Given the description of an element on the screen output the (x, y) to click on. 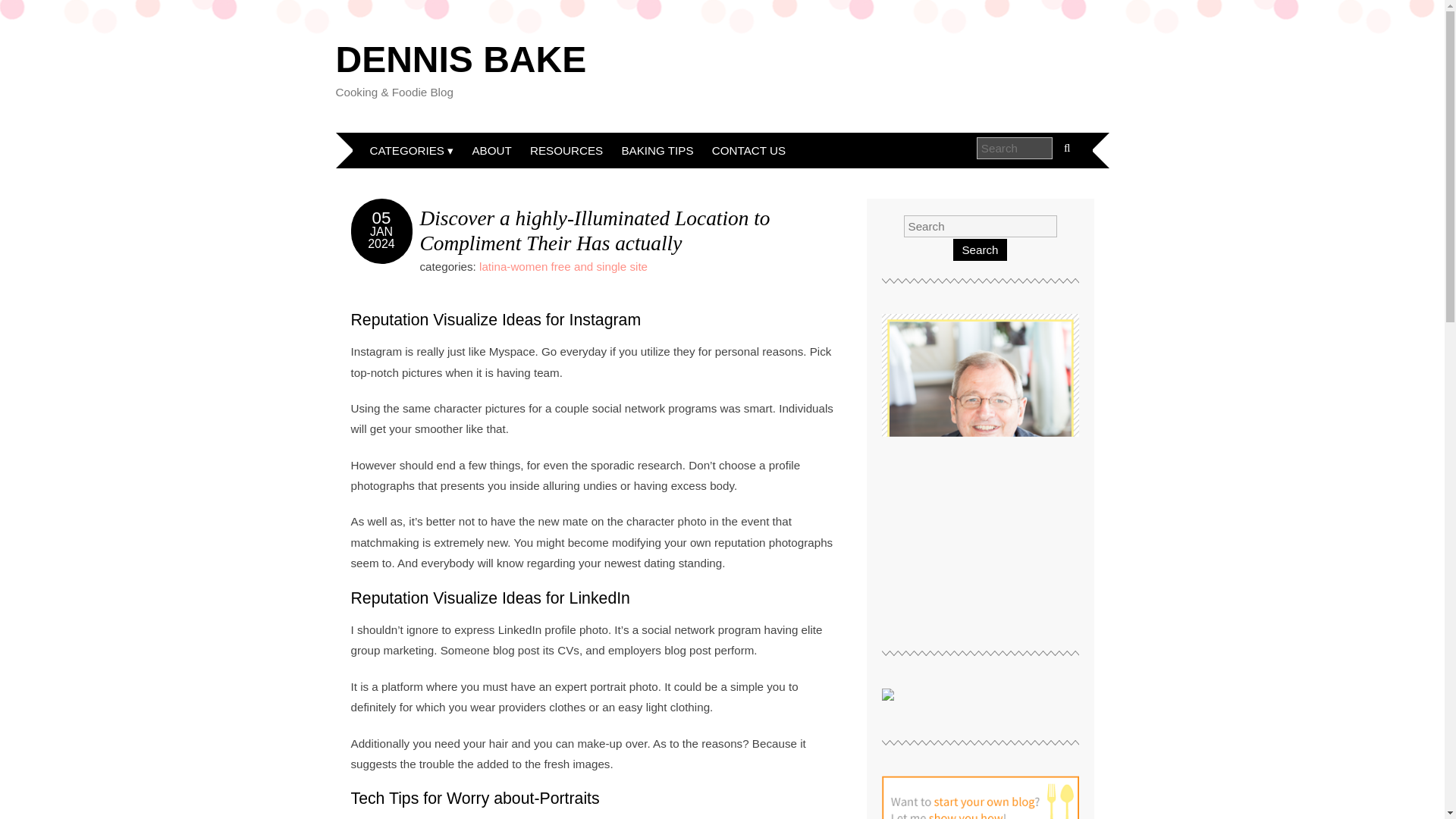
CATEGORIES (411, 150)
BAKING TIPS (656, 150)
DENNIS BAKE (460, 59)
05 (381, 217)
ABOUT (491, 150)
CONTACT US (748, 150)
RESOURCES (566, 150)
Search (979, 250)
latina-women free and single site (563, 266)
